Given the description of an element on the screen output the (x, y) to click on. 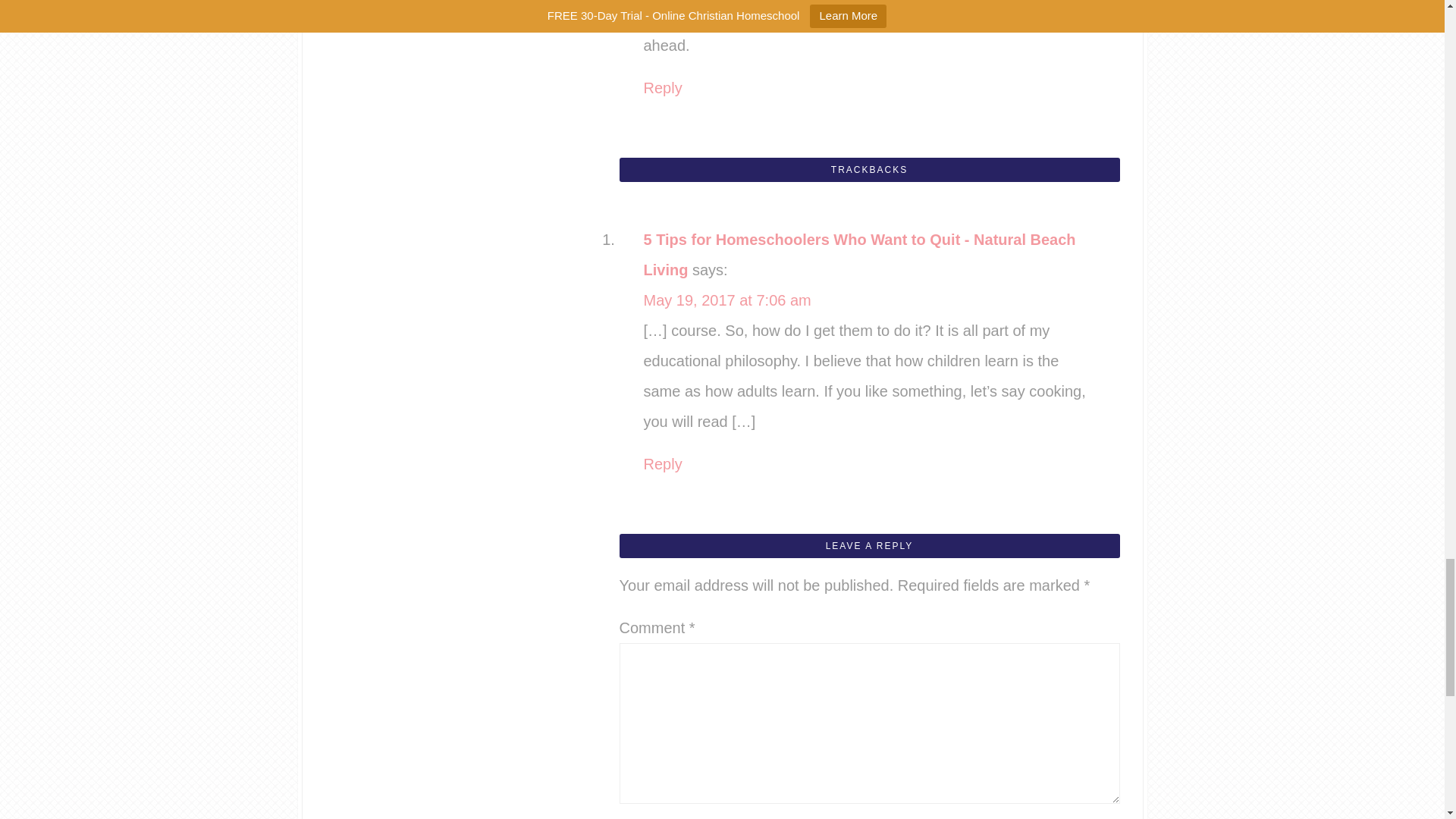
Reply (662, 463)
Reply (662, 87)
May 19, 2017 at 7:06 am (726, 299)
